Given the description of an element on the screen output the (x, y) to click on. 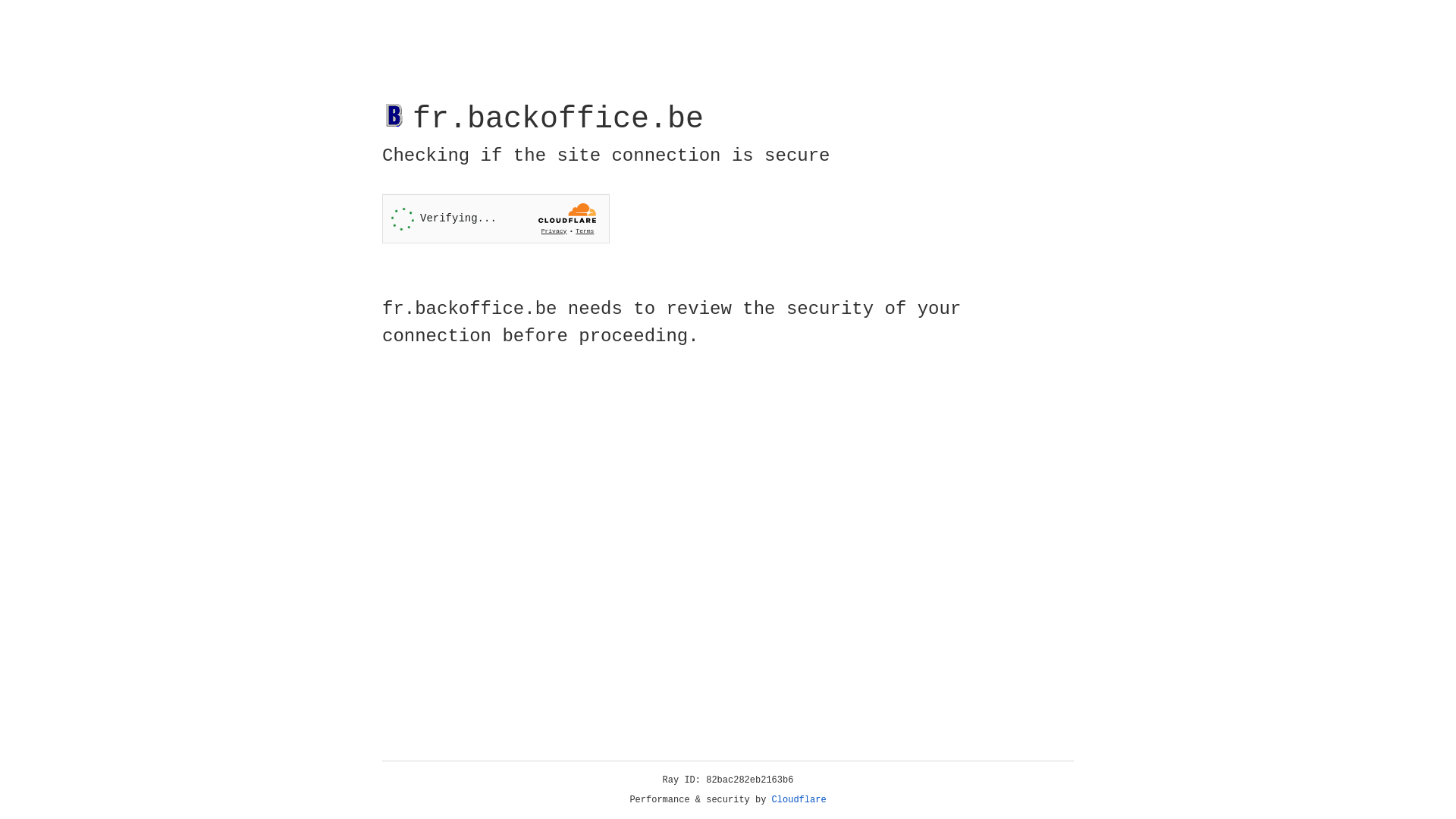
Cloudflare Element type: text (798, 799)
Widget containing a Cloudflare security challenge Element type: hover (495, 218)
